Given the description of an element on the screen output the (x, y) to click on. 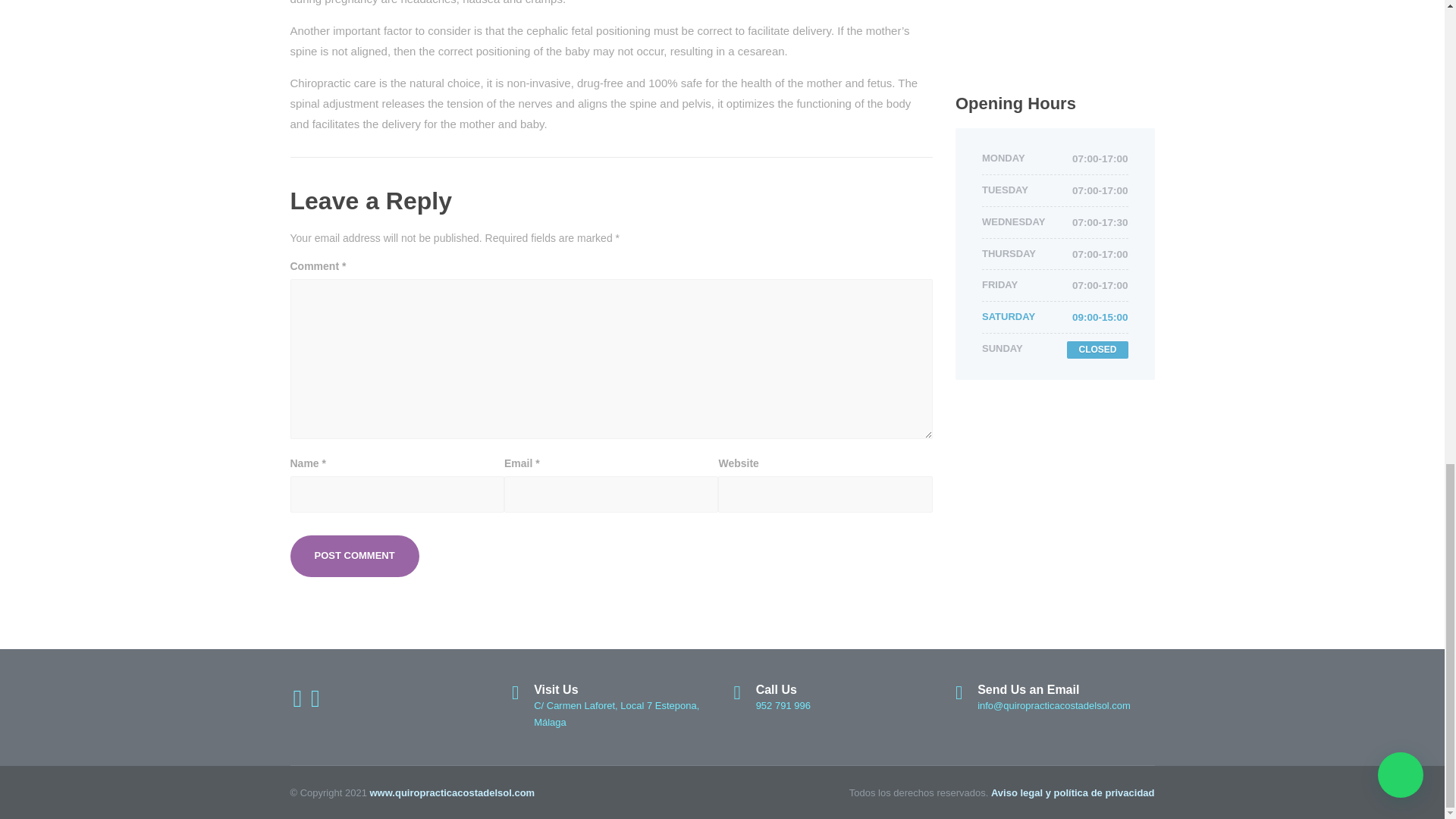
Post Comment (354, 556)
www.quiropracticacostadelsol.com (451, 792)
Post Comment (354, 556)
